Given the description of an element on the screen output the (x, y) to click on. 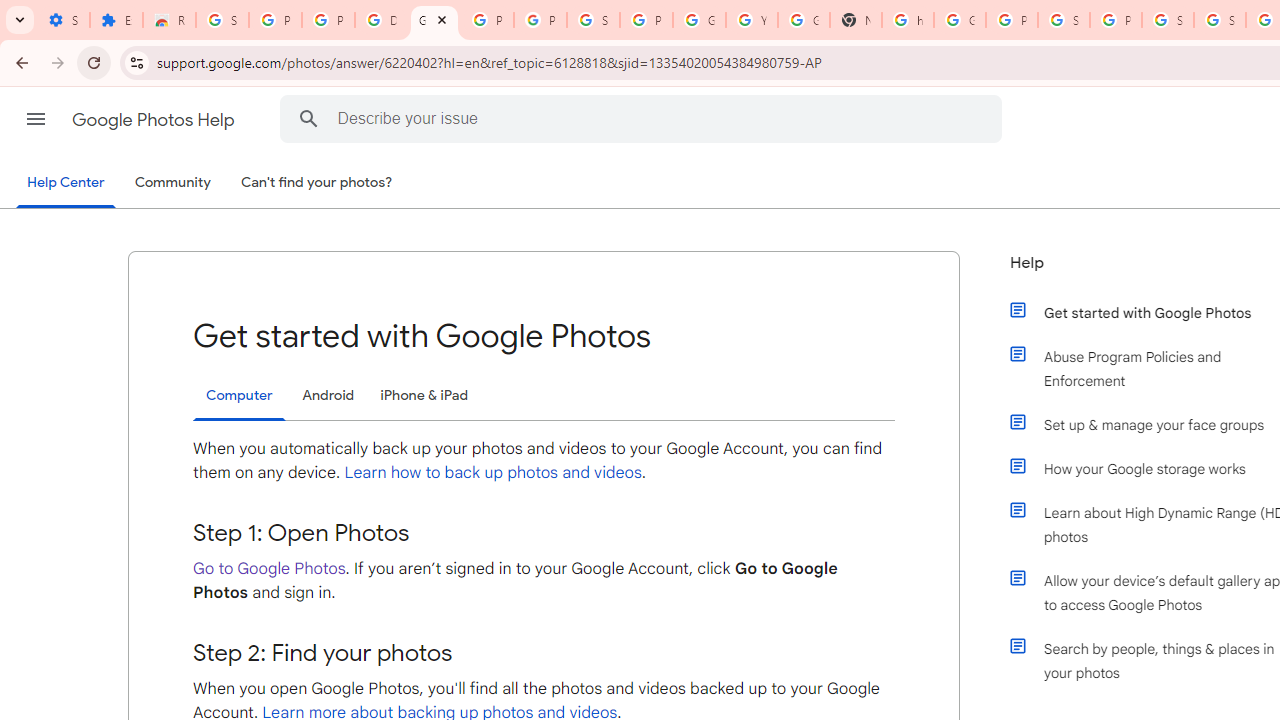
Google Account (699, 20)
New Tab (855, 20)
Settings - On startup (63, 20)
Go to Google Photos (269, 568)
Delete photos & videos - Computer - Google Photos Help (381, 20)
Google Photos Help (155, 119)
Can't find your photos? (317, 183)
